Given the description of an element on the screen output the (x, y) to click on. 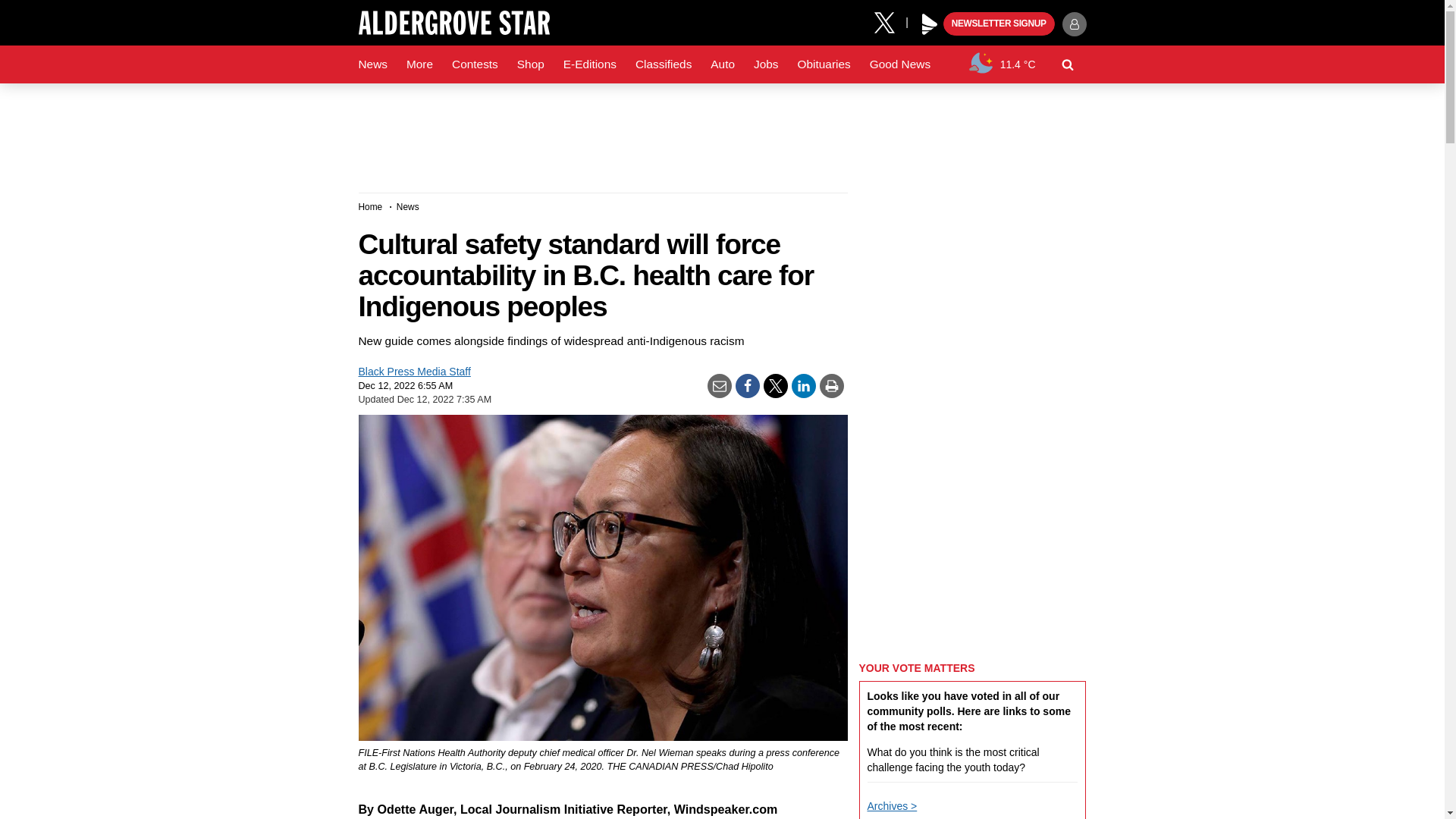
News (372, 64)
NEWSLETTER SIGNUP (998, 24)
3rd party ad content (721, 131)
Black Press Media (929, 24)
Play (929, 24)
X (889, 21)
